Given the description of an element on the screen output the (x, y) to click on. 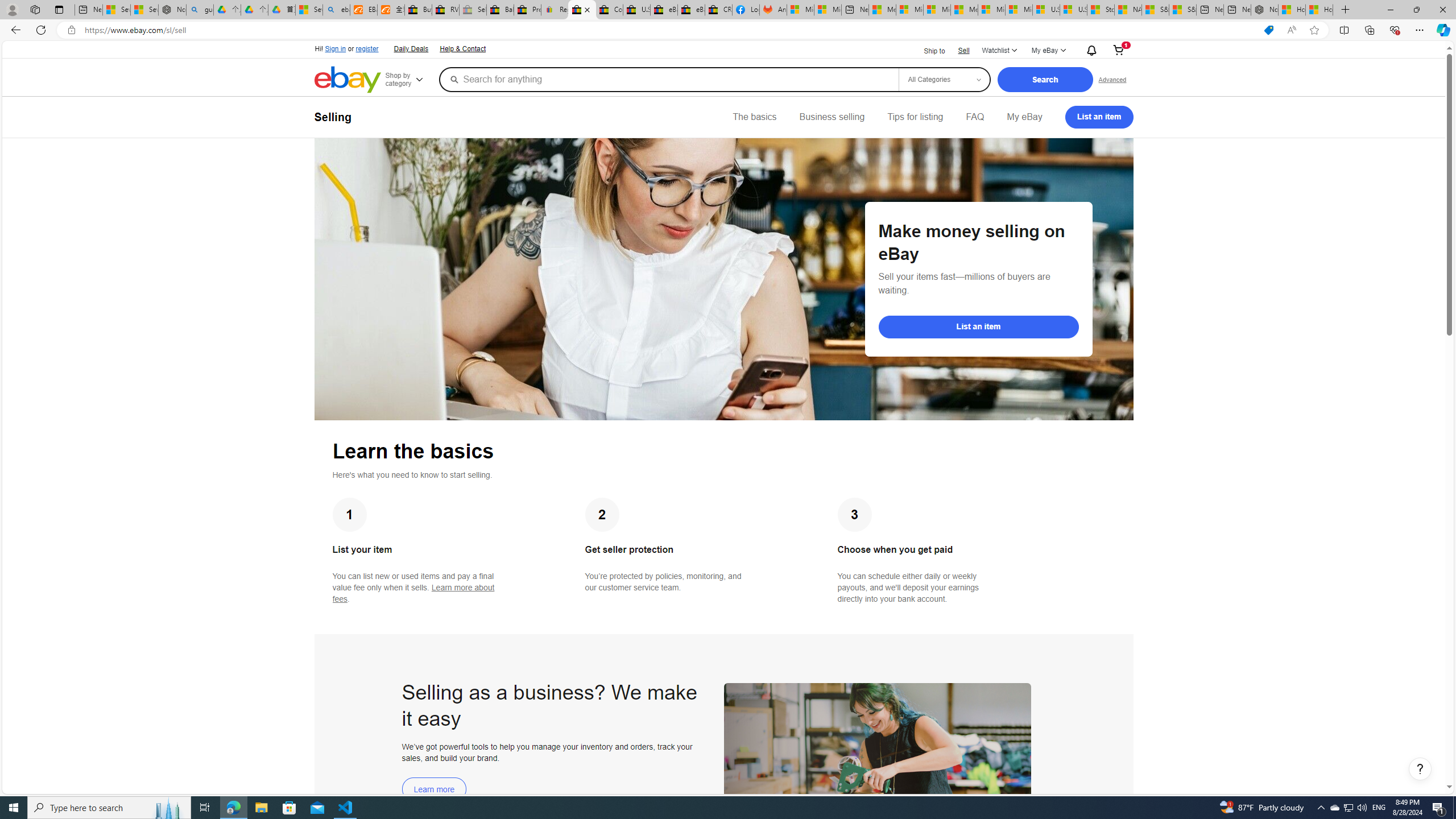
Learn more about fees - opens in new window or tab. (413, 593)
Search for anything (667, 78)
Help & Contact (461, 48)
Press Room - eBay Inc. (527, 9)
FAQ (974, 116)
Watchlist (998, 50)
